Given the description of an element on the screen output the (x, y) to click on. 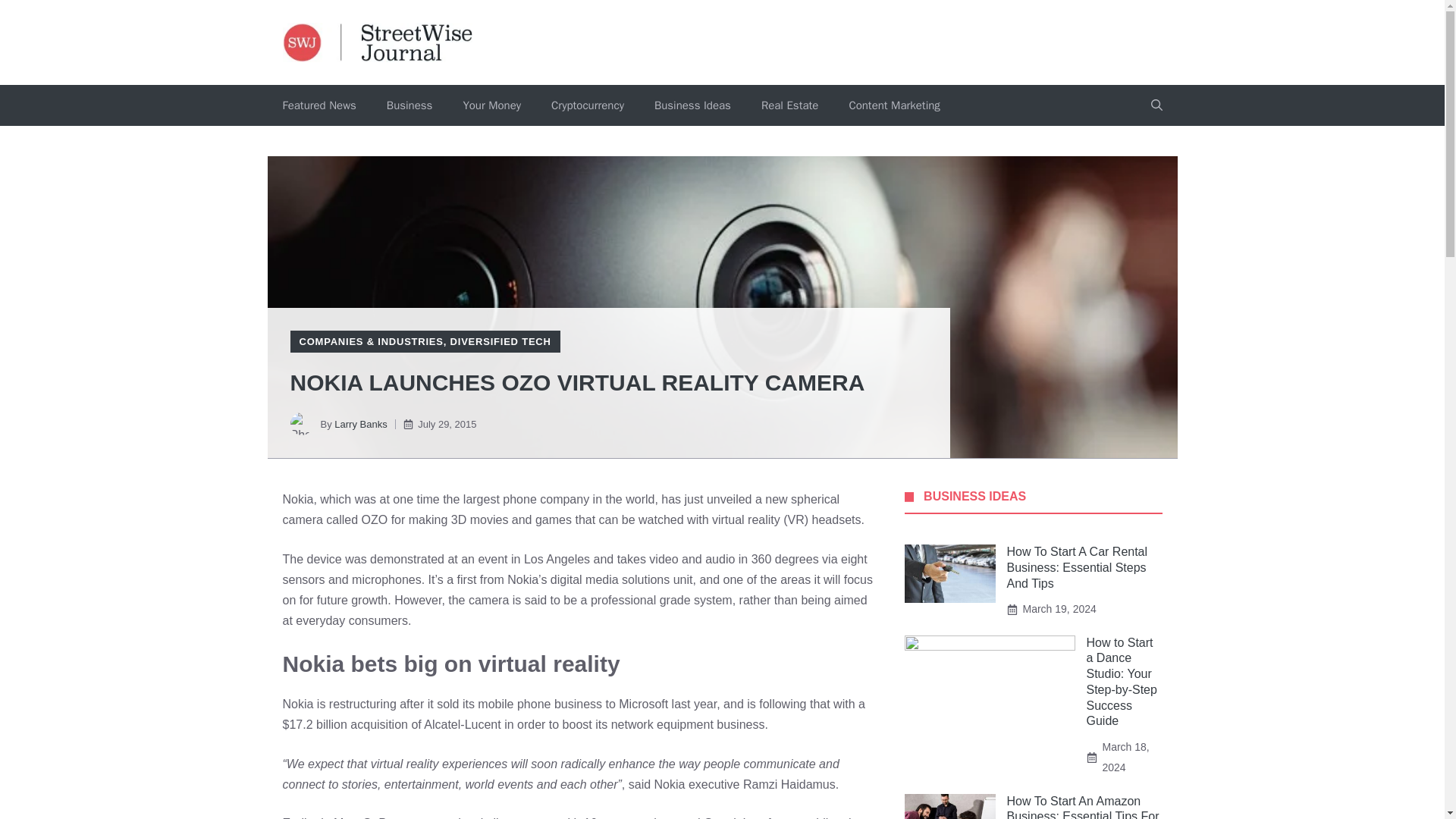
Microsoft (643, 703)
Cryptocurrency (587, 105)
How To Start A Car Rental Business: Essential Steps And Tips (1077, 567)
Featured News (318, 105)
Real Estate (788, 105)
Larry Banks (360, 423)
DIVERSIFIED TECH (500, 341)
Your Money (490, 105)
unveiled (729, 499)
